Given the description of an element on the screen output the (x, y) to click on. 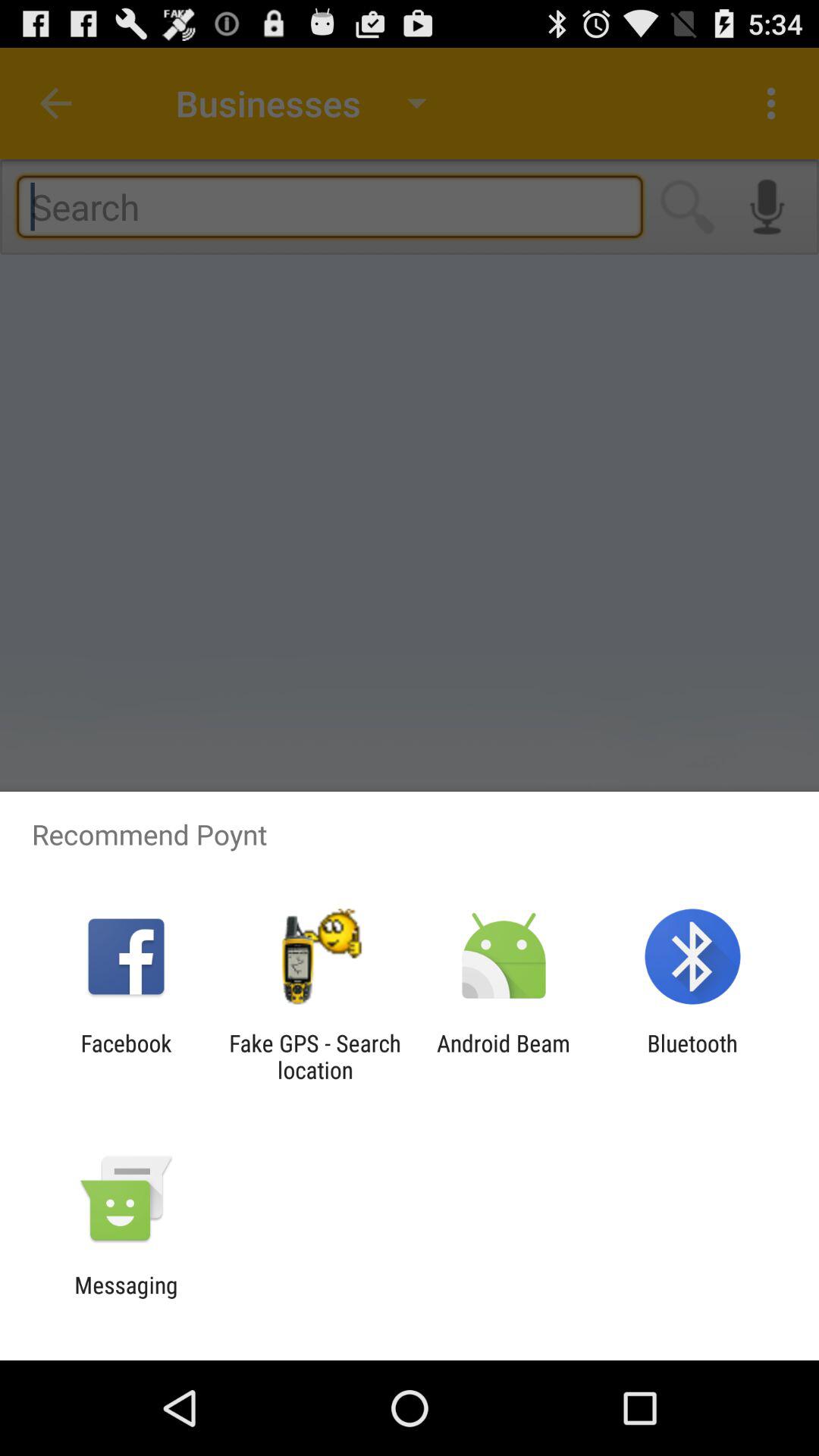
press the bluetooth app (692, 1056)
